Given the description of an element on the screen output the (x, y) to click on. 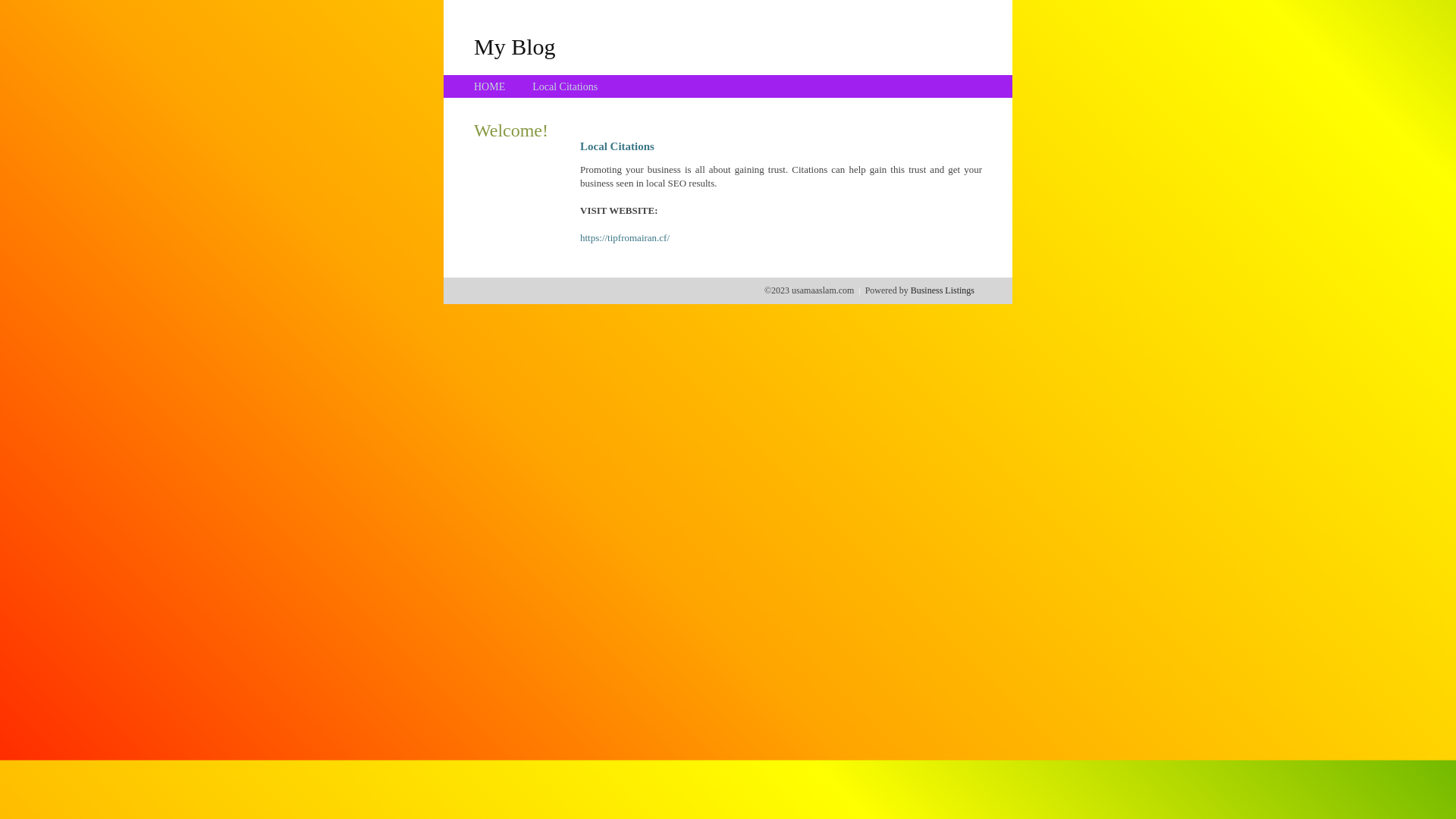
Business Listings Element type: text (942, 290)
My Blog Element type: text (514, 46)
HOME Element type: text (489, 86)
https://tipfromairan.cf/ Element type: text (624, 237)
Local Citations Element type: text (564, 86)
